Given the description of an element on the screen output the (x, y) to click on. 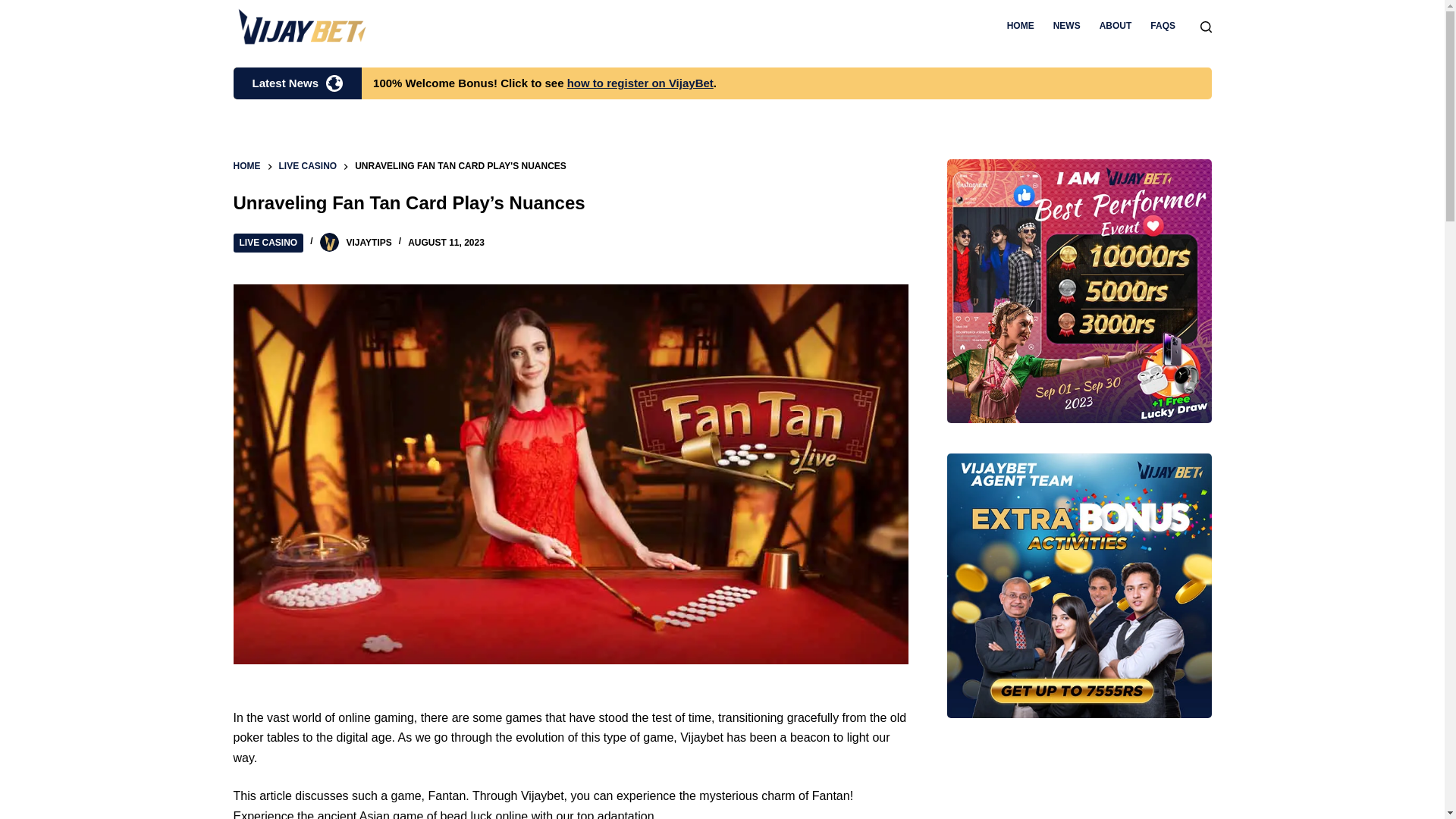
NEWS (1066, 26)
VIJAYTIPS (368, 242)
how to register on VijayBet (640, 82)
Posts by vijaytips (368, 242)
LIVE CASINO (268, 242)
FAQS (1163, 26)
HOME (1020, 26)
Skip to content (15, 7)
ABOUT (1115, 26)
HOME (246, 166)
LIVE CASINO (308, 166)
